Given the description of an element on the screen output the (x, y) to click on. 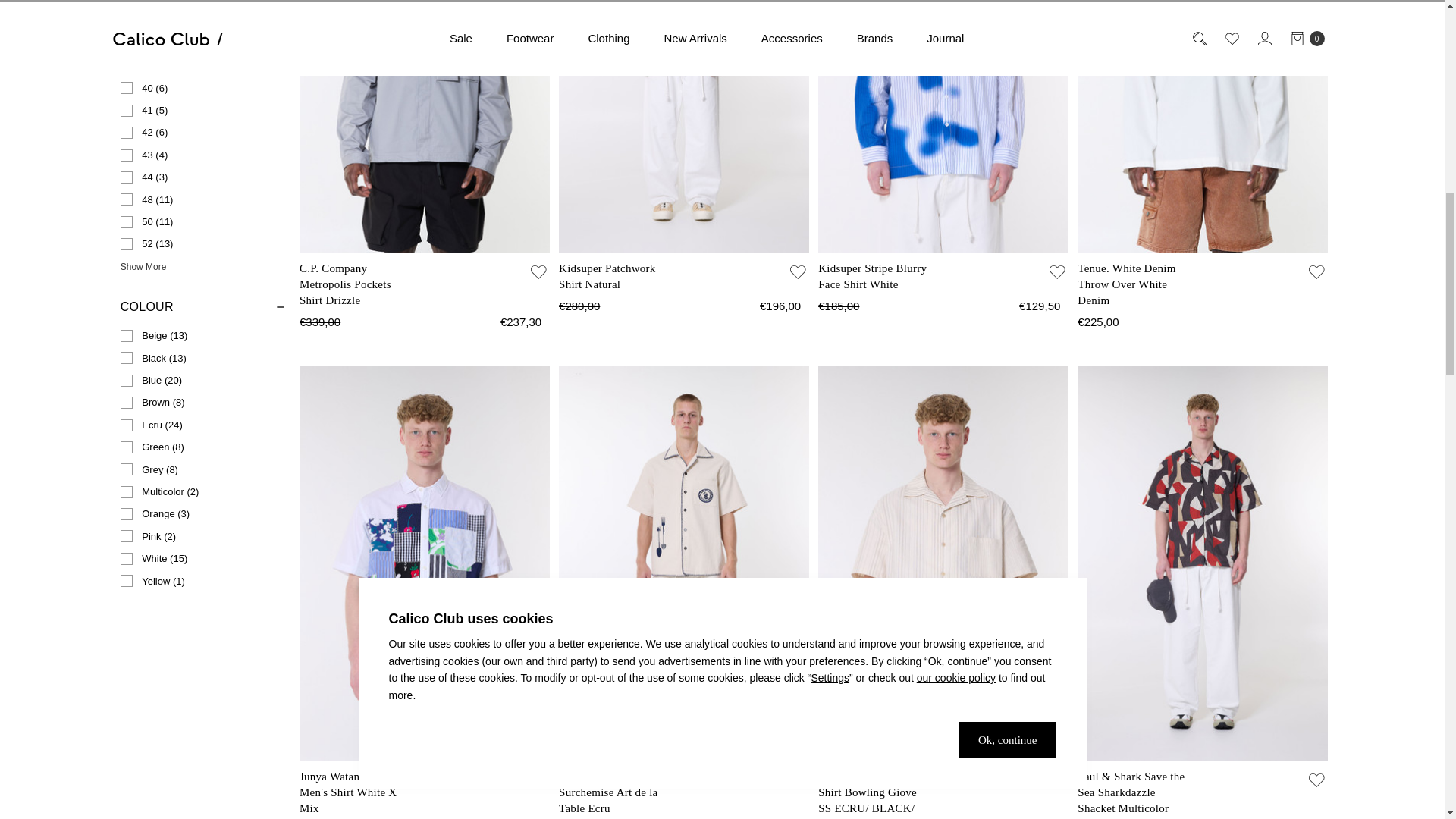
Kidsuper Patchwork Shirt  Natural (684, 126)
Tenue. White Denim Throw Over White Denim (1202, 126)
Kidsuper Stripe Blurry Face Shirt  White (943, 126)
C.P. Company Metropolis Pockets Shirt Drizzle (424, 126)
